Given the description of an element on the screen output the (x, y) to click on. 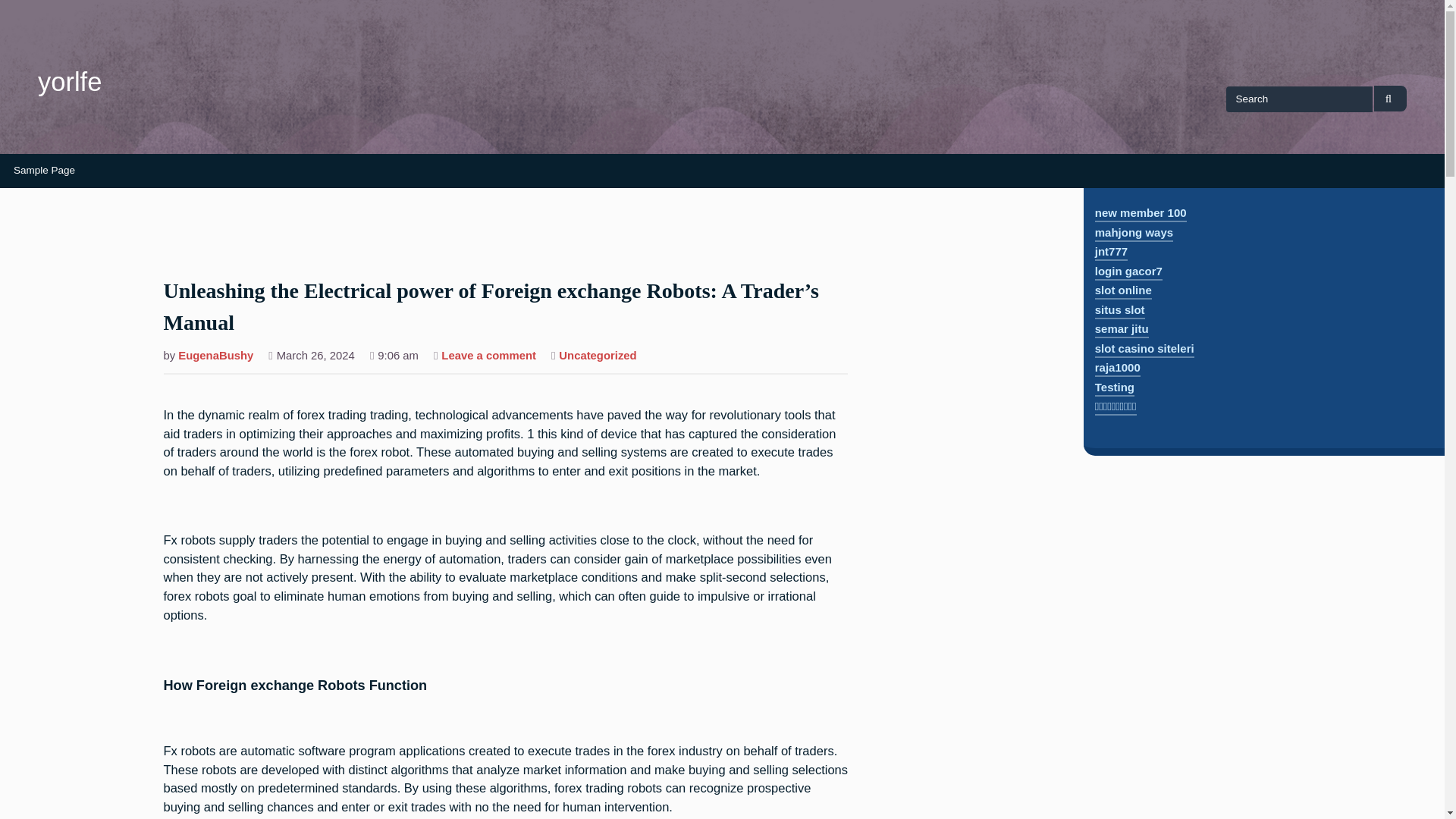
EugenaBushy (215, 356)
Posts by EugenaBushy (215, 356)
new member 100 (1140, 213)
semar jitu (1121, 330)
mahjong ways (1133, 233)
Search (1390, 98)
jnt777 (1110, 252)
slot online (1122, 291)
situs slot (1119, 311)
raja1000 (1117, 368)
Testing (1114, 388)
Uncategorized (597, 356)
yorlfe (69, 81)
slot casino siteleri (1143, 349)
